Given the description of an element on the screen output the (x, y) to click on. 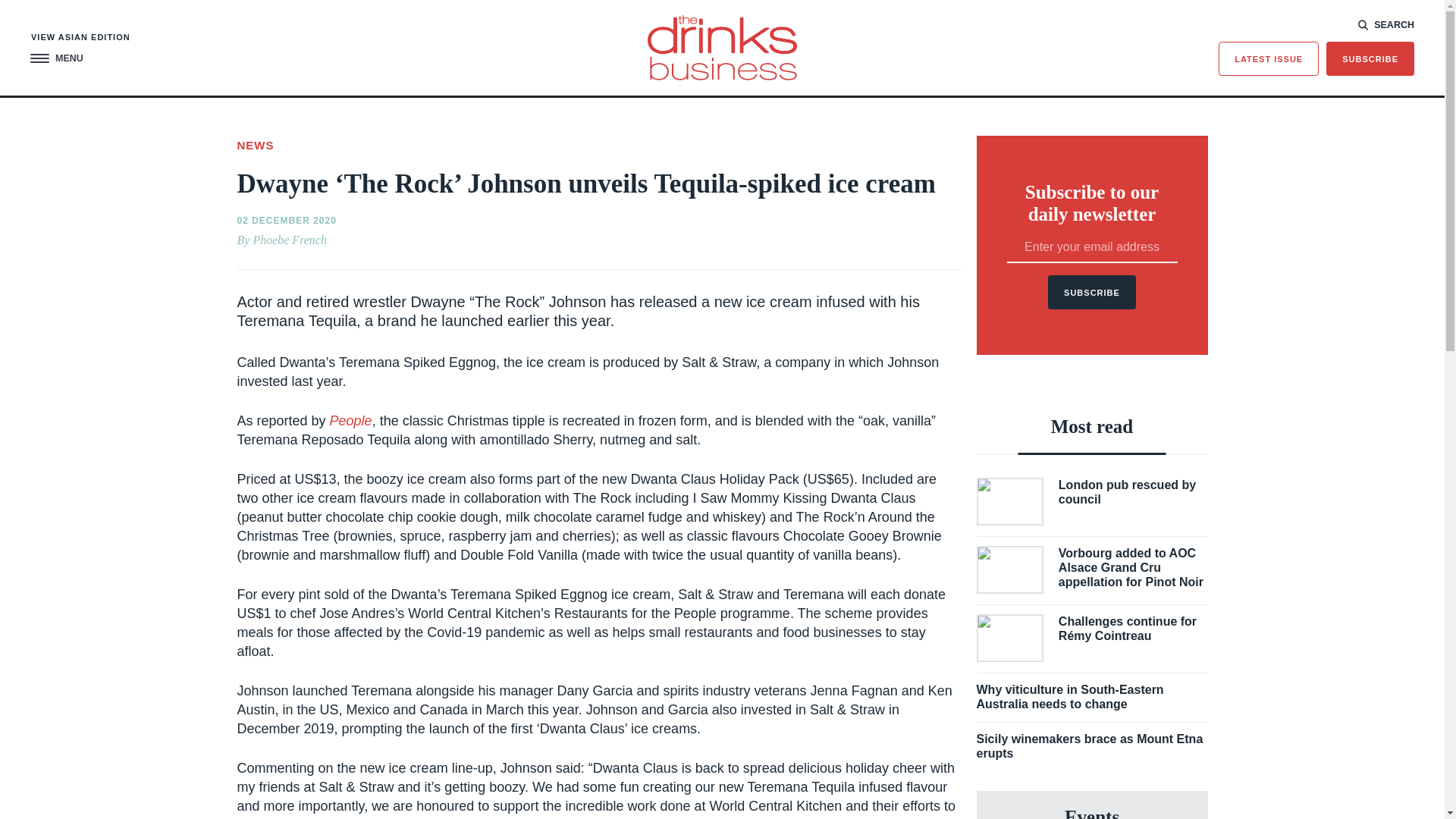
LATEST ISSUE (1268, 58)
VIEW ASIAN EDITION (80, 37)
The Drinks Business (721, 47)
MENU (56, 58)
SUBSCRIBE (1369, 58)
SEARCH (1385, 24)
